Given the description of an element on the screen output the (x, y) to click on. 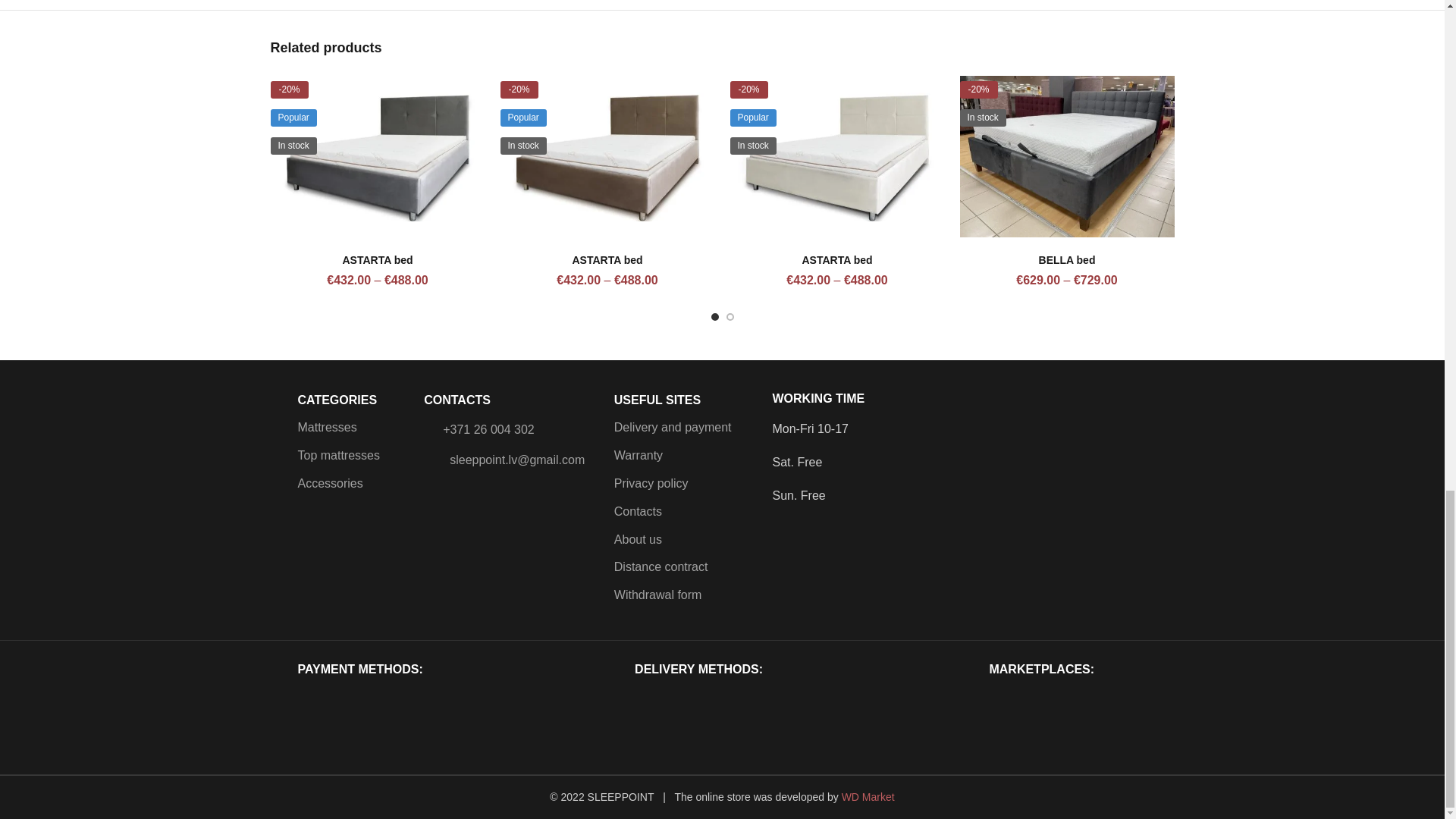
Facebook (1073, 438)
Instagram (1104, 438)
Whatsapp (1134, 438)
